Given the description of an element on the screen output the (x, y) to click on. 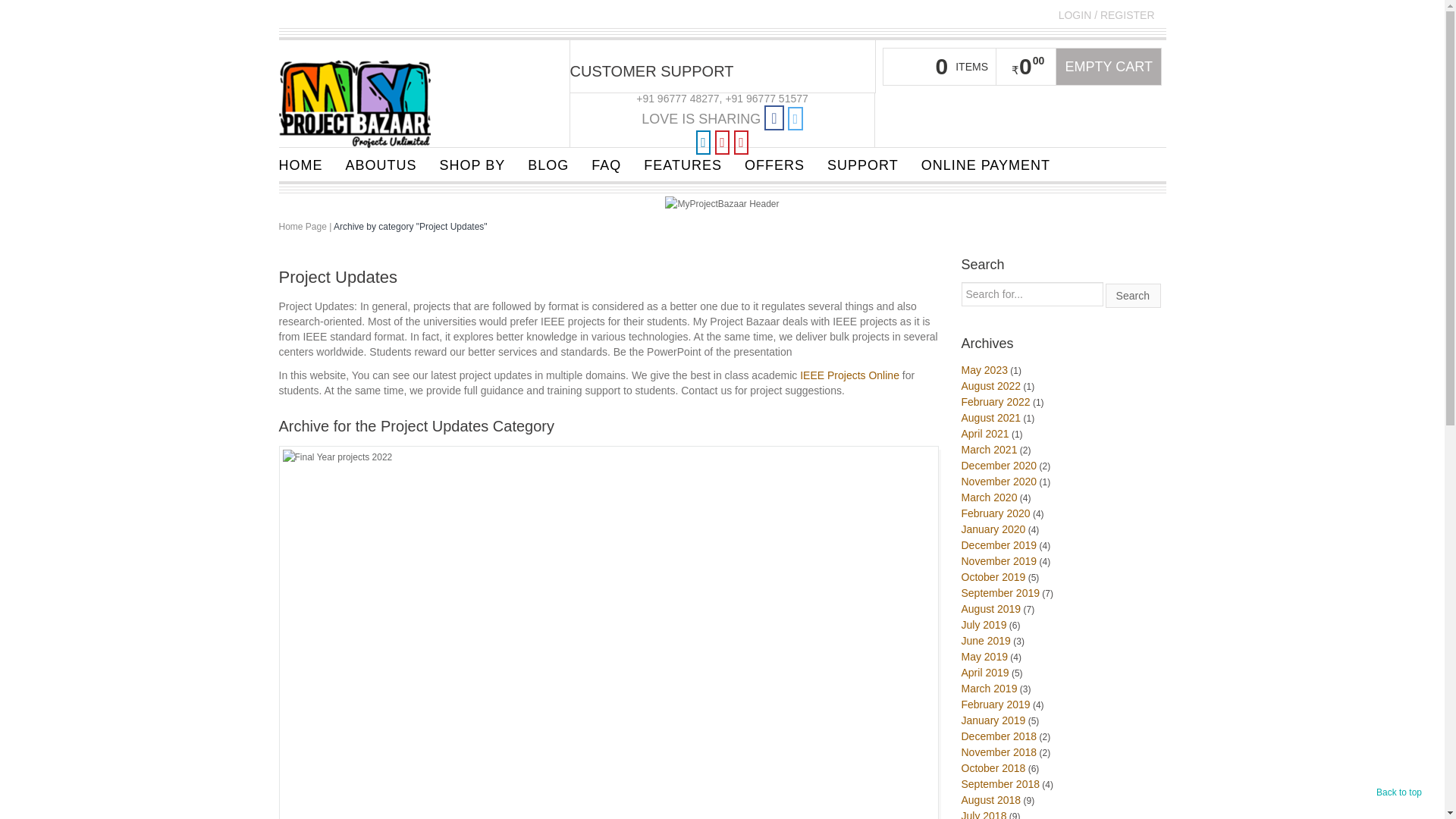
ABOUTUS (380, 163)
SHOP BY (472, 163)
Search (1132, 295)
HOME (299, 163)
EMPTY CART (1108, 66)
